Given the description of an element on the screen output the (x, y) to click on. 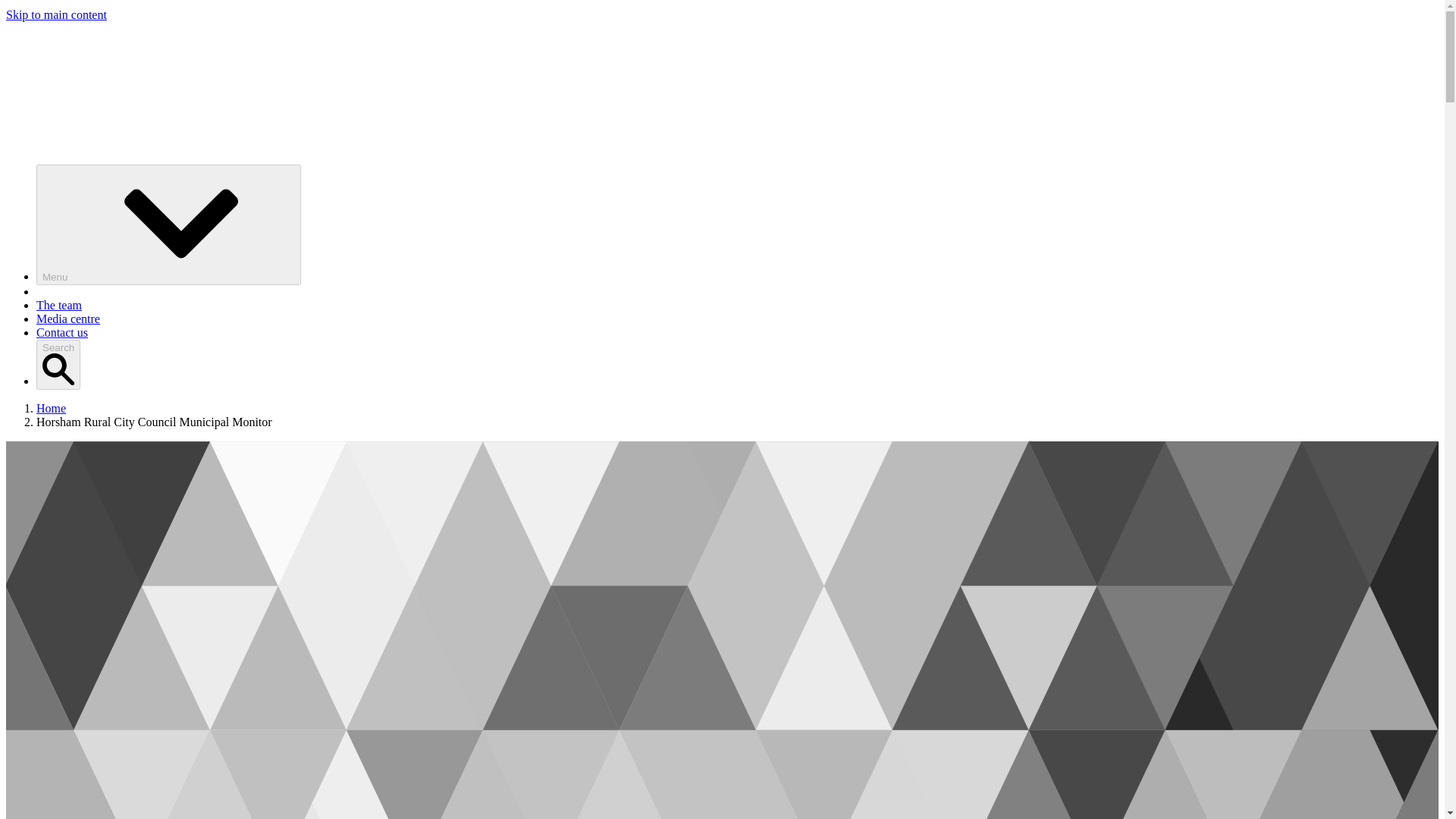
Skip to main content (55, 14)
Media centre (68, 318)
The team (58, 305)
Home (50, 408)
Contact us (61, 332)
